Given the description of an element on the screen output the (x, y) to click on. 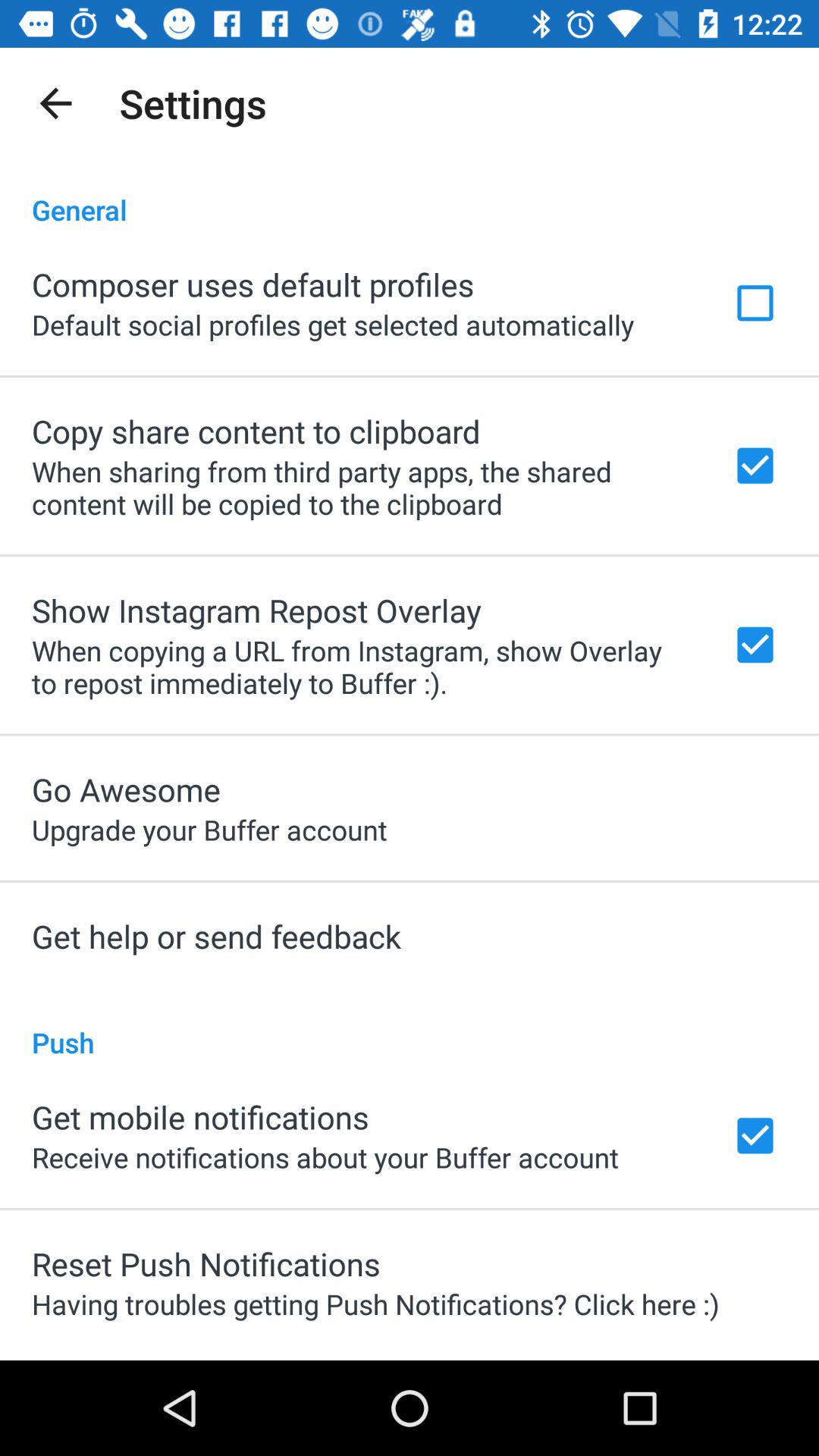
choose icon below the default social profiles icon (255, 430)
